Given the description of an element on the screen output the (x, y) to click on. 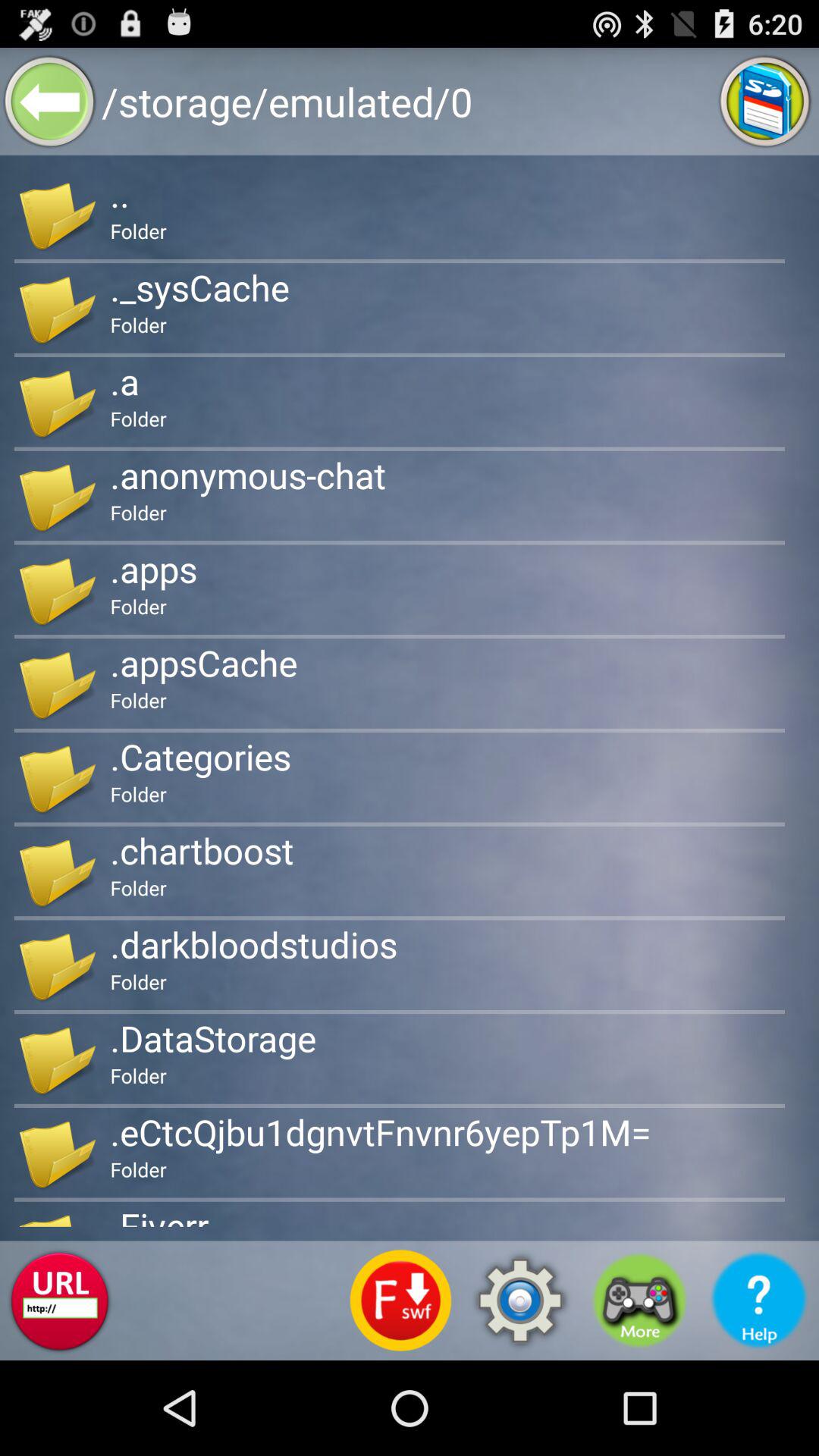
shows the game option (639, 1300)
